Given the description of an element on the screen output the (x, y) to click on. 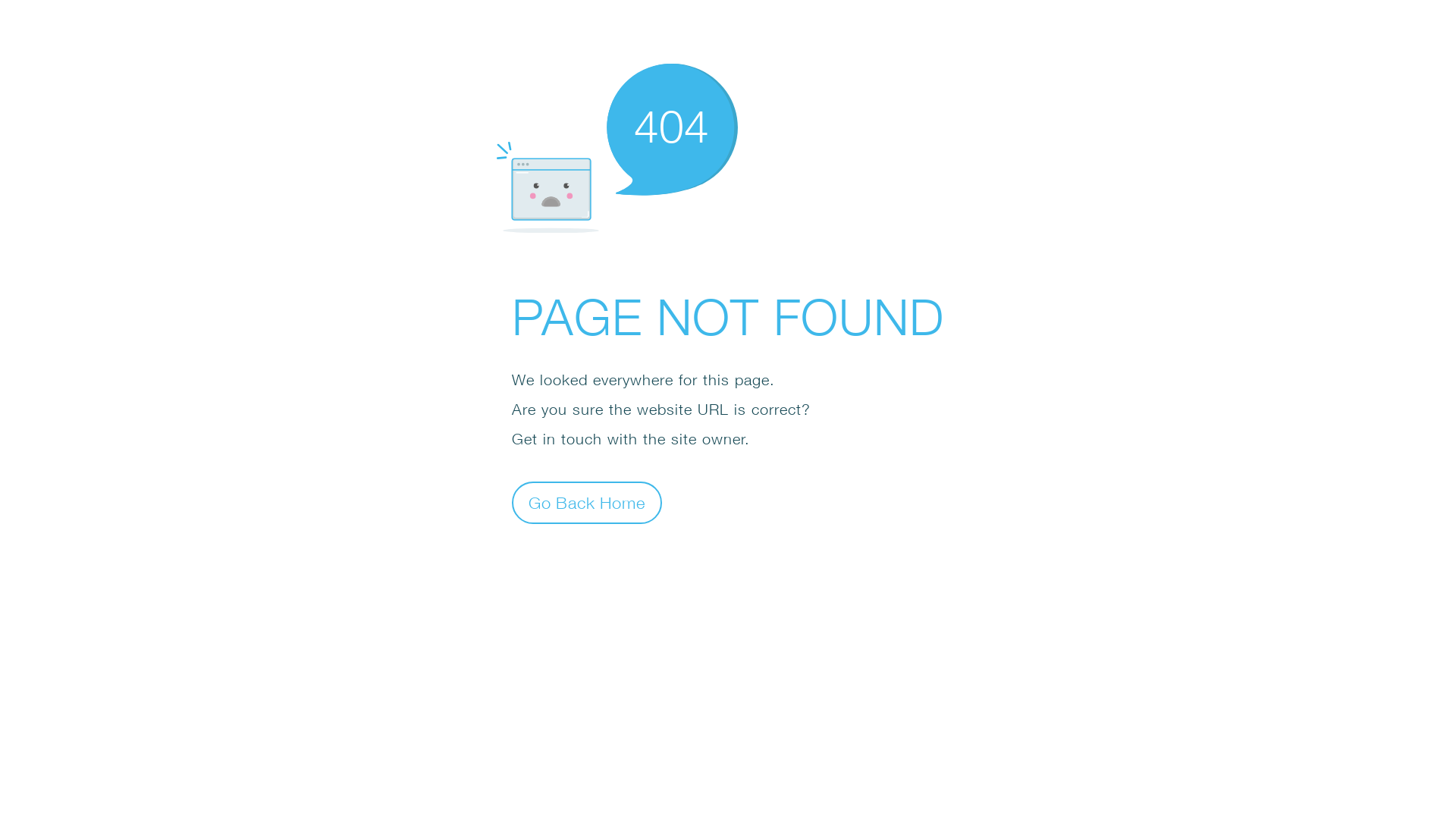
Go Back Home Element type: text (586, 502)
